Given the description of an element on the screen output the (x, y) to click on. 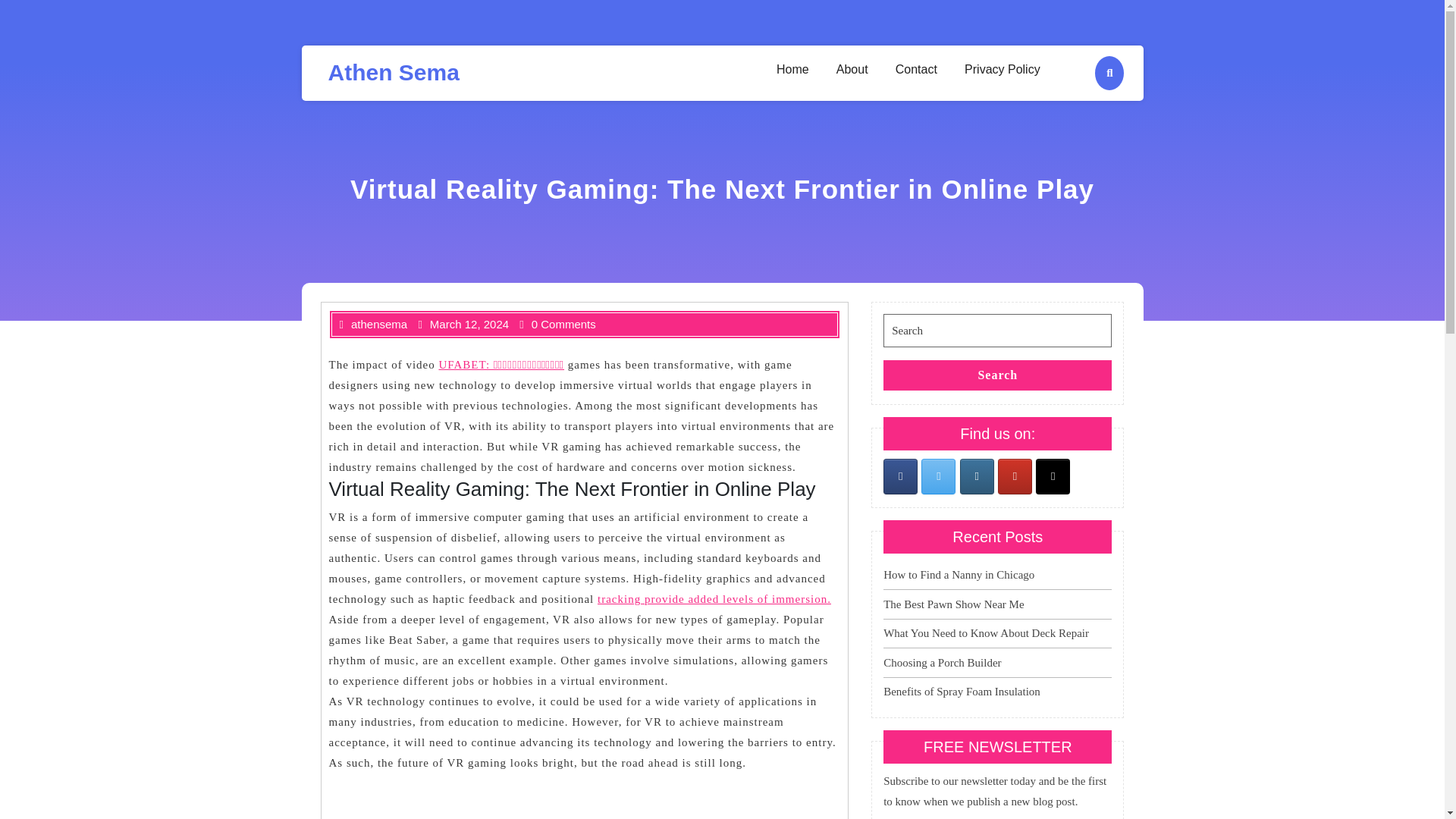
Athen Sema on Facebook (900, 476)
Athen Sema on Tiktok (1052, 476)
Search (997, 375)
Athen Sema (392, 72)
Privacy Policy (1005, 69)
About (855, 69)
What You Need to Know About Deck Repair (986, 633)
Choosing a Porch Builder (942, 662)
tracking provide added levels of immersion. (713, 598)
Contact (919, 69)
Home (795, 69)
The Best Pawn Show Near Me (953, 604)
Athen Sema on X Twitter (938, 476)
Benefits of Spray Foam Insulation (962, 691)
How to Find a Nanny in Chicago (958, 574)
